Given the description of an element on the screen output the (x, y) to click on. 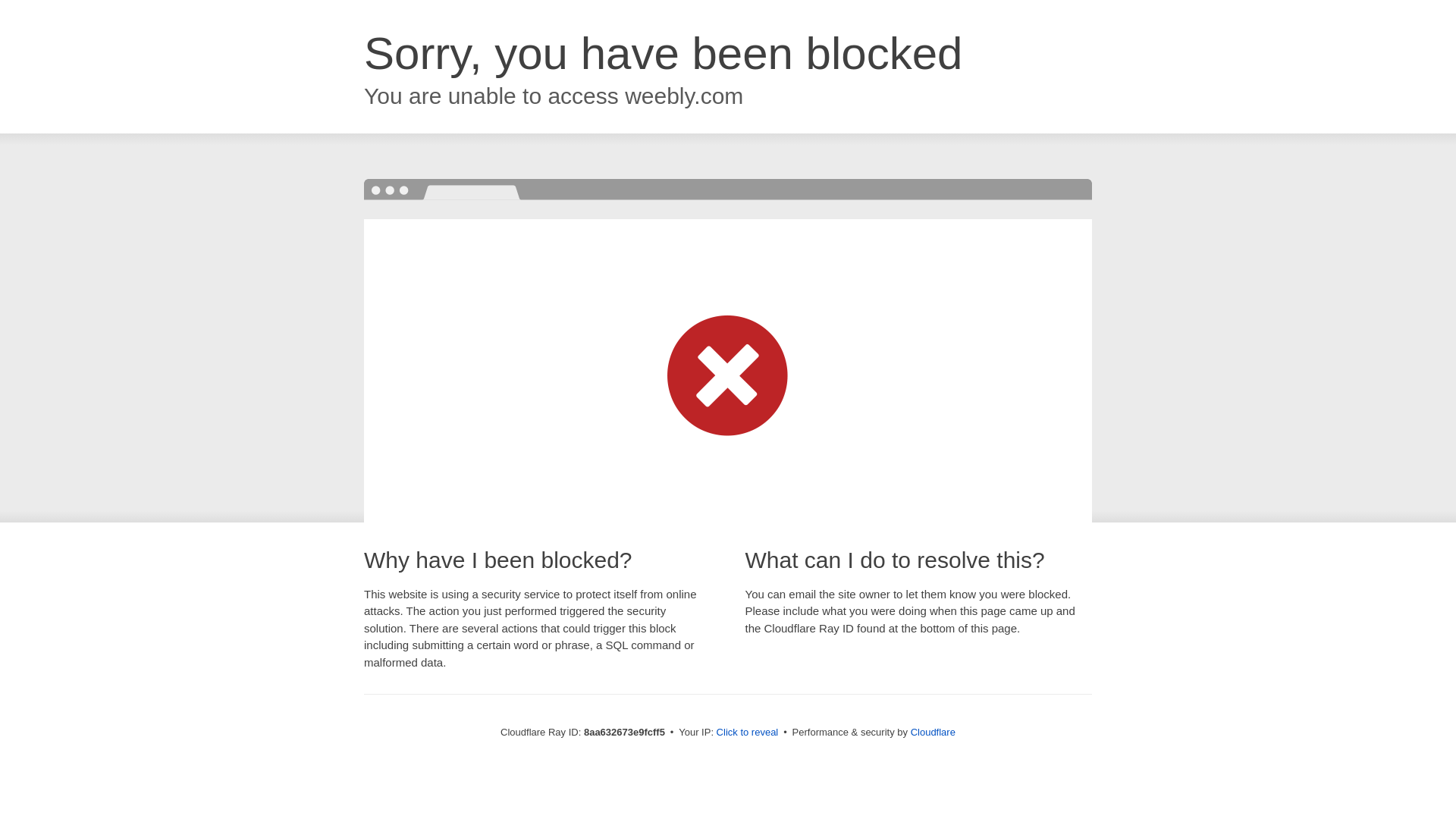
Cloudflare (933, 731)
Click to reveal (747, 732)
